Given the description of an element on the screen output the (x, y) to click on. 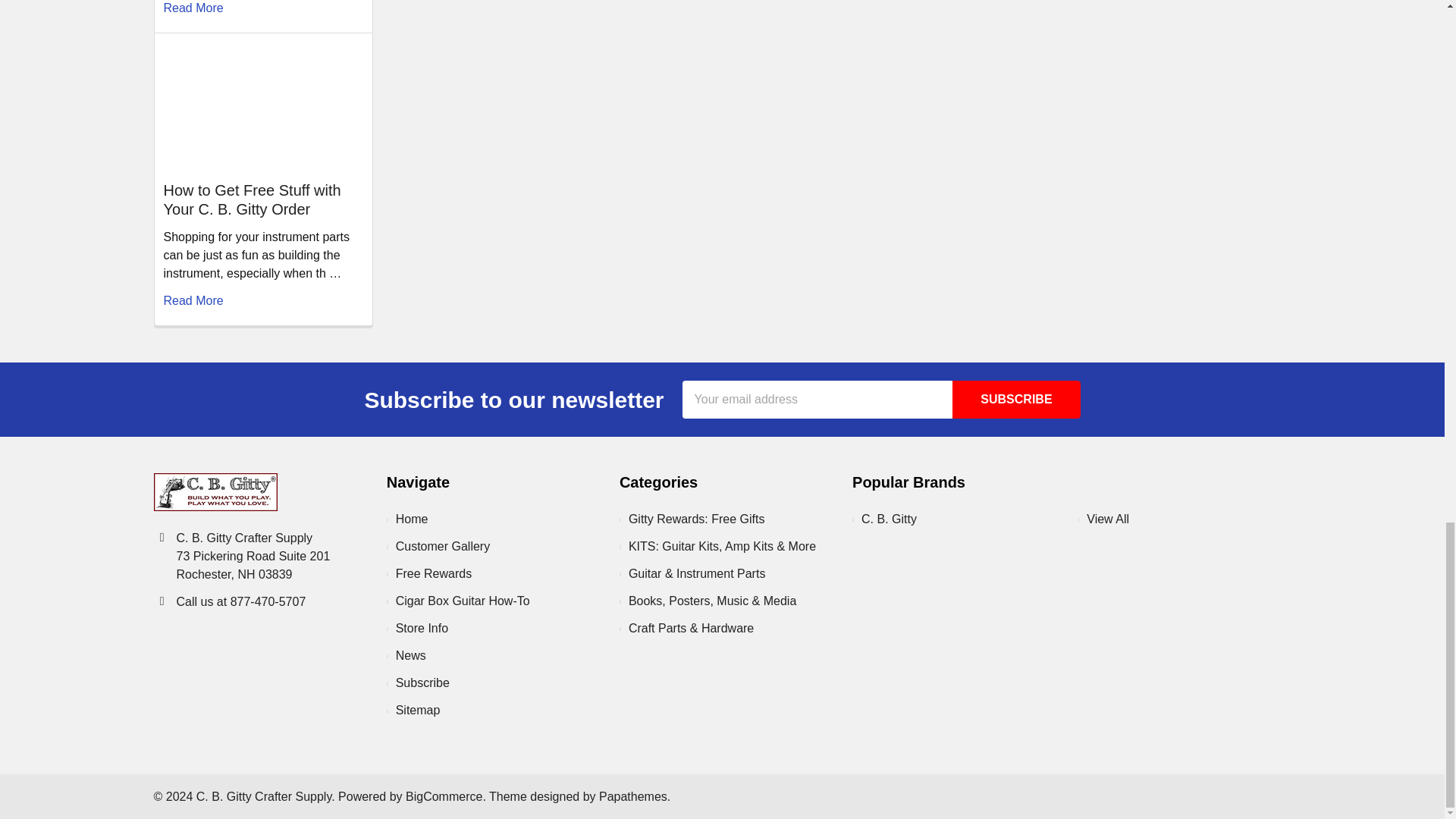
Subscribe (1016, 399)
How to Get Free Stuff with Your C. B. Gitty Order (262, 105)
